Given the description of an element on the screen output the (x, y) to click on. 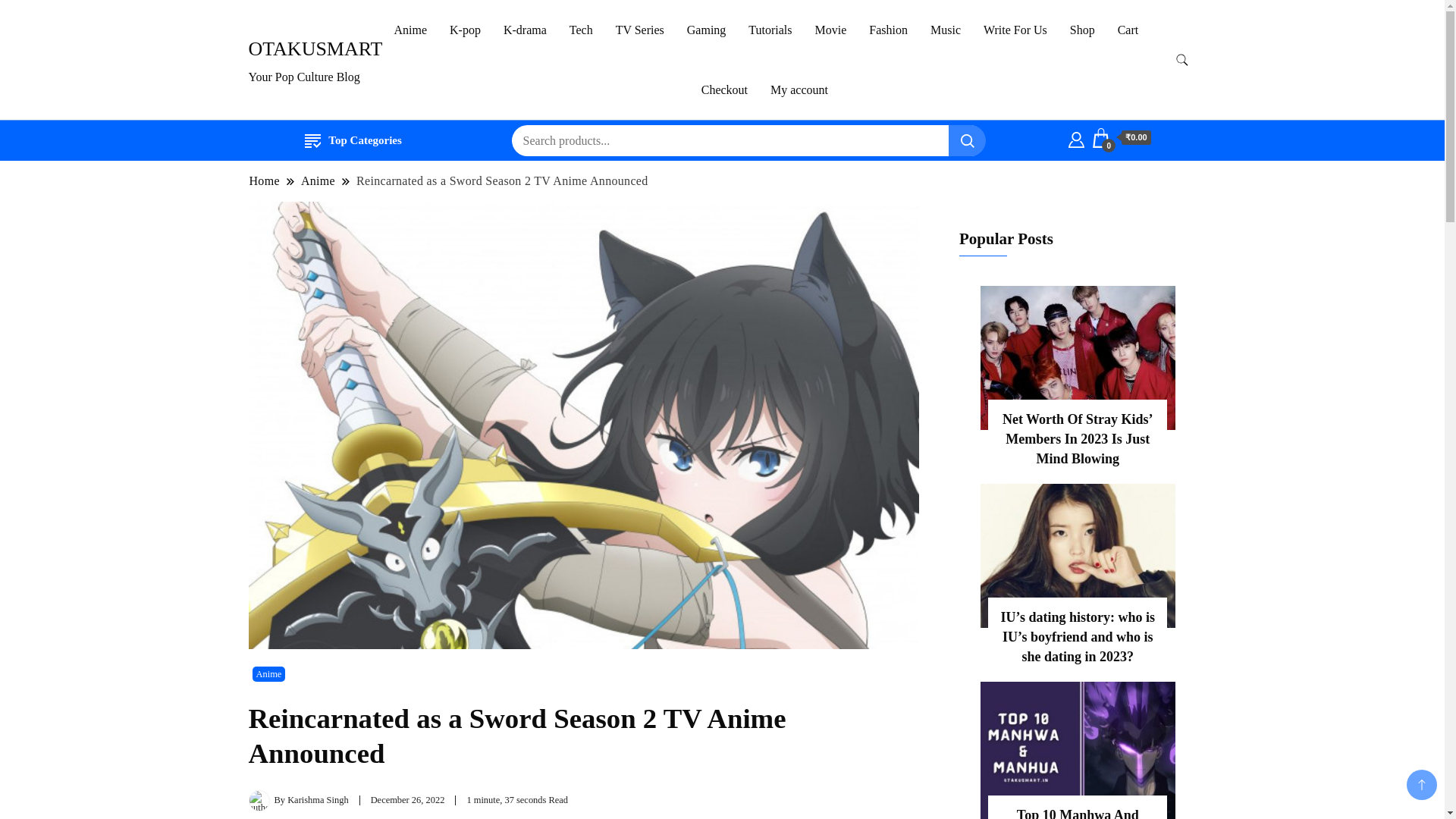
Cart (1120, 137)
Write For Us (1015, 29)
K-drama (524, 29)
Checkout (724, 89)
My Account (1076, 137)
My account (799, 89)
Gaming (706, 29)
TV Series (639, 29)
Fashion (888, 29)
OTAKUSMART (315, 48)
Tutorials (770, 29)
